Given the description of an element on the screen output the (x, y) to click on. 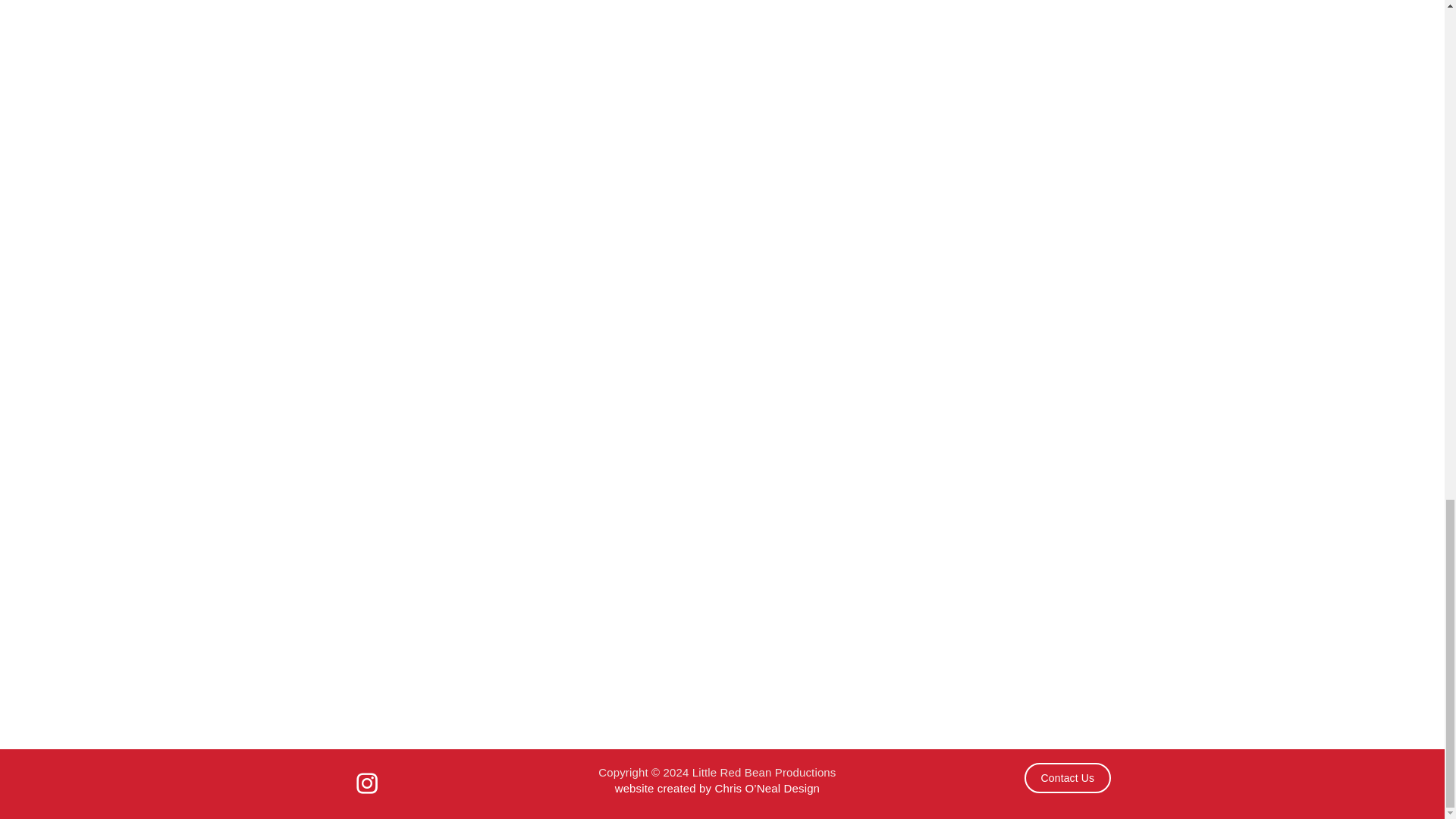
Contact Us (1068, 777)
